Given the description of an element on the screen output the (x, y) to click on. 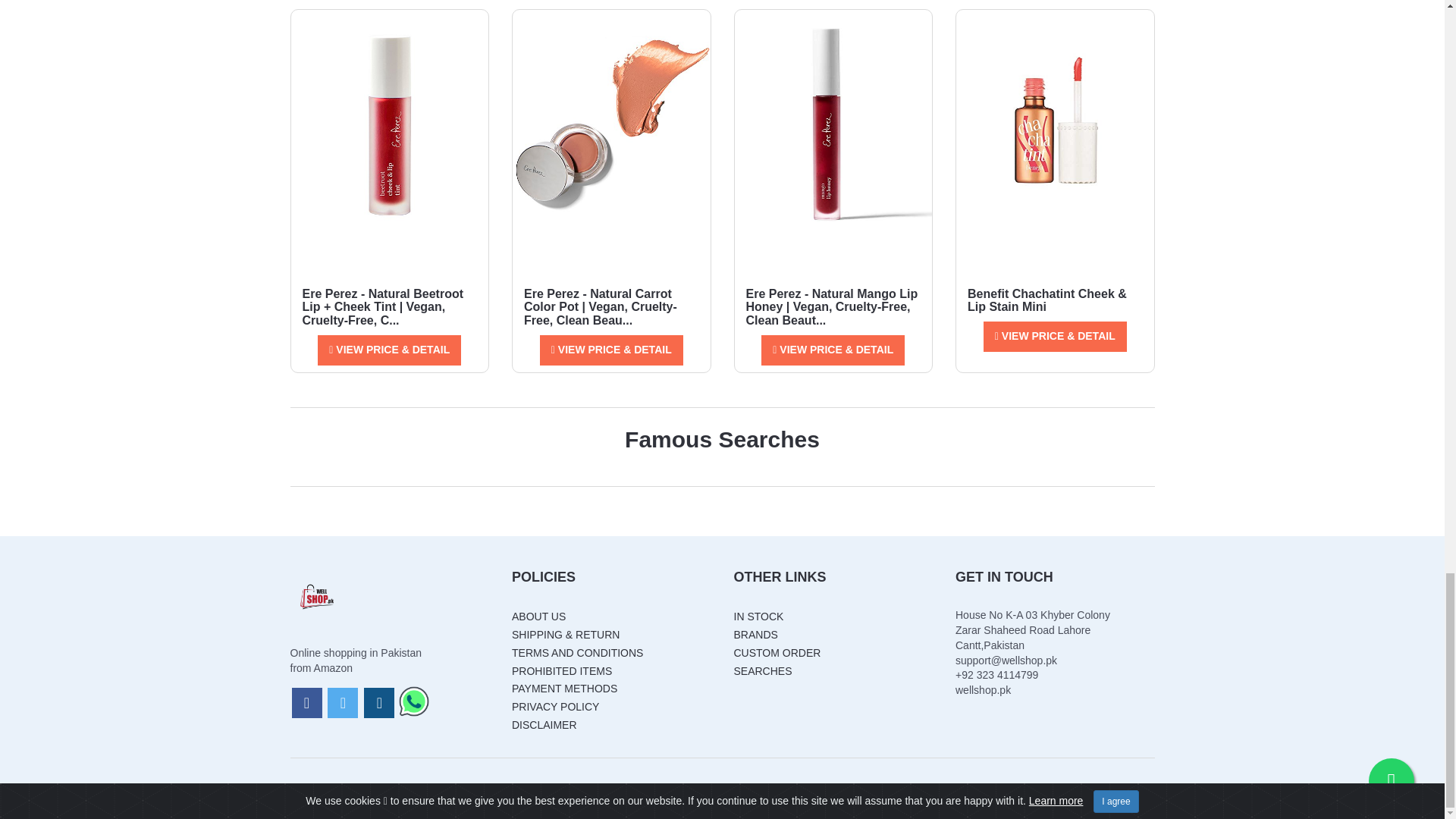
Follow us on twitter (342, 702)
Follow us on facebook (306, 702)
Chat On Whatsapp (413, 704)
Follow us on instagram (379, 702)
